Given the description of an element on the screen output the (x, y) to click on. 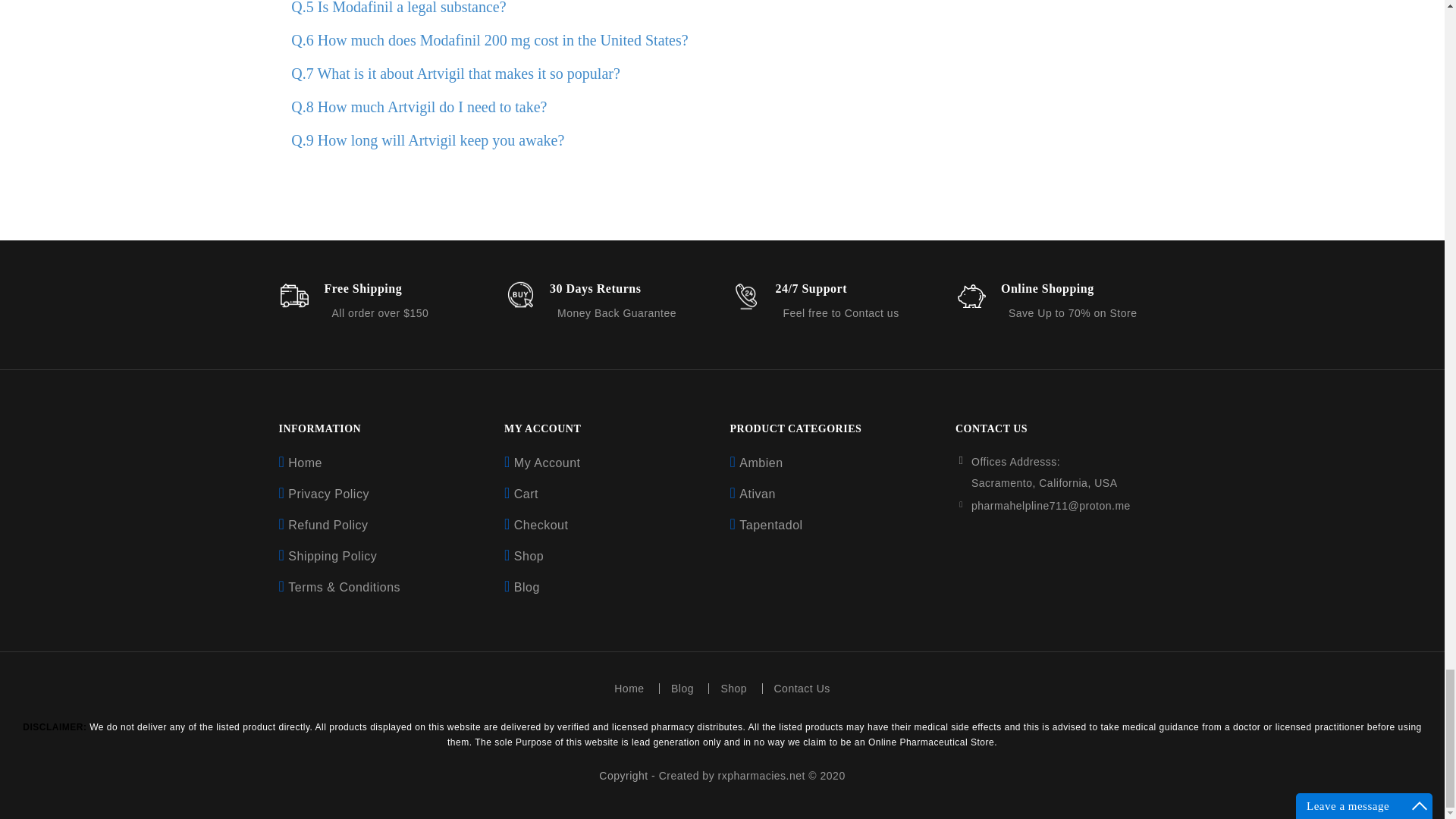
Home (304, 462)
Q.5 Is Modafinil a legal substance? (395, 7)
Q.7 What is it about Artvigil that makes it so popular? (451, 73)
Q.9 How long will Artvigil keep you awake? (424, 140)
Q.8 How much Artvigil do I need to take? (415, 106)
